Given the description of an element on the screen output the (x, y) to click on. 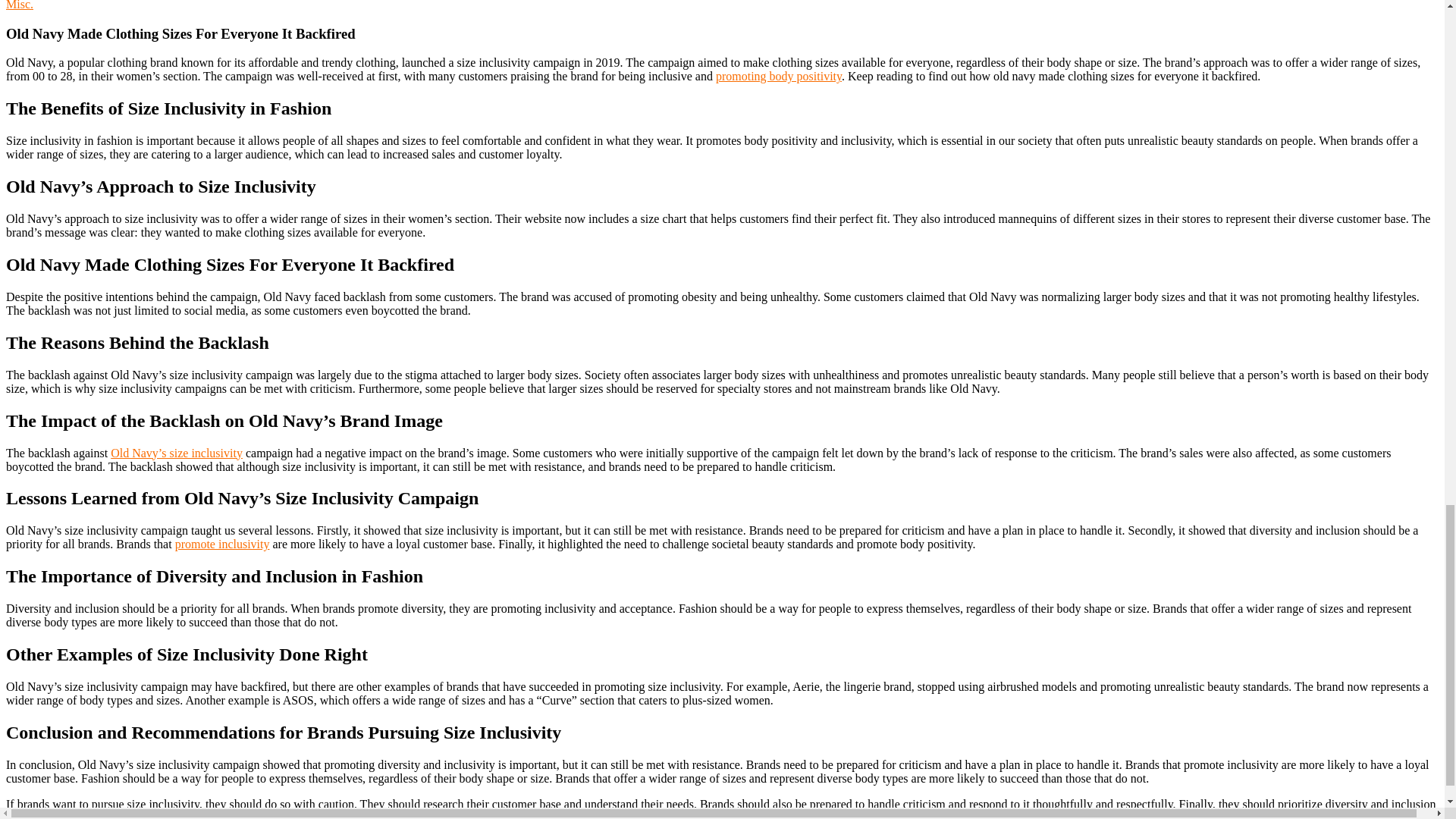
promote inclusivity (221, 543)
Misc. (19, 5)
promoting body positivity (778, 75)
